Given the description of an element on the screen output the (x, y) to click on. 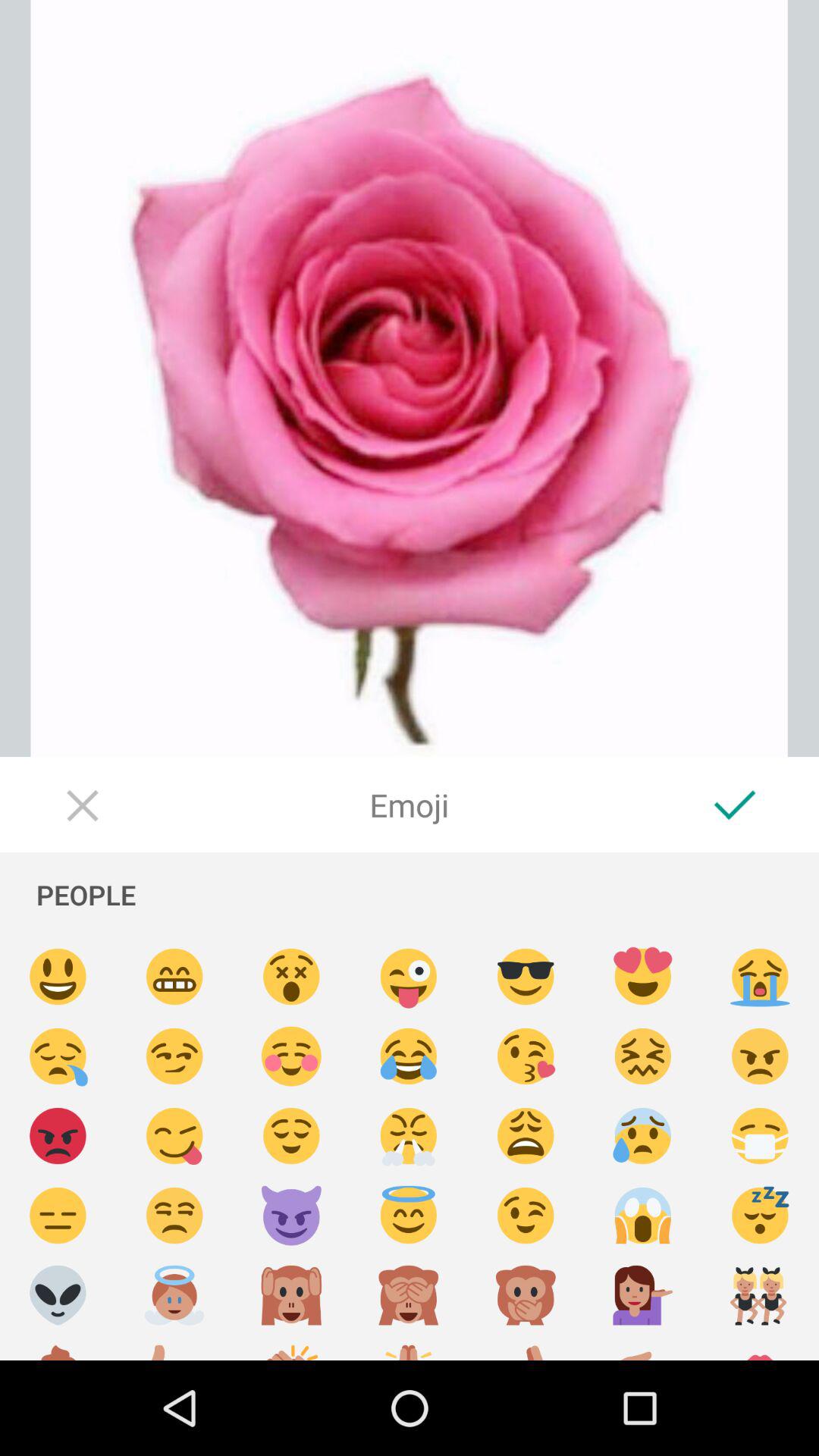
selects an emoji (408, 1136)
